Given the description of an element on the screen output the (x, y) to click on. 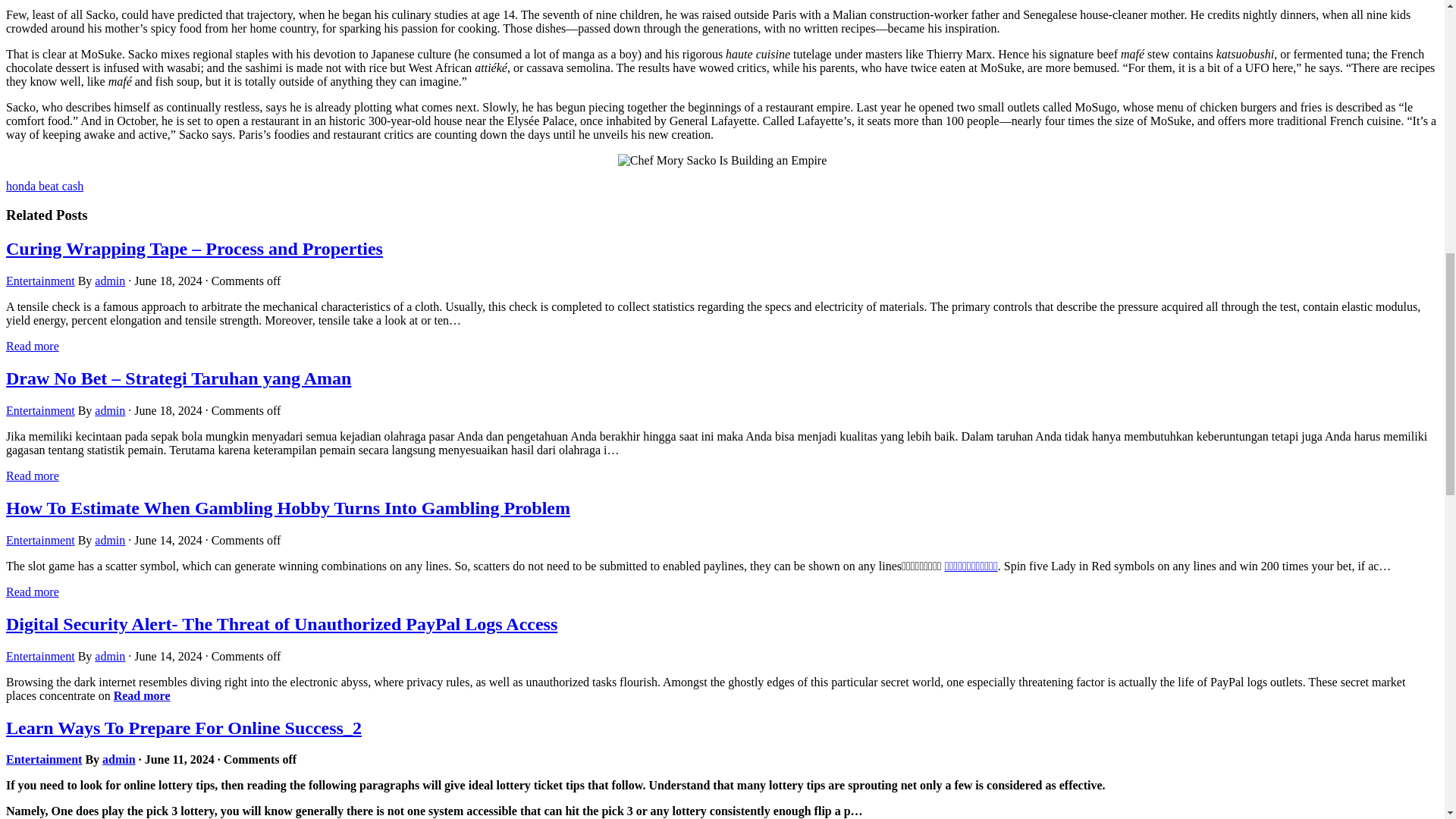
Chef Mory Sacko Is Building an Empire (722, 160)
Posts by admin (109, 656)
Posts by admin (109, 540)
Posts by admin (118, 758)
Posts by admin (109, 280)
Posts by admin (109, 410)
